Given the description of an element on the screen output the (x, y) to click on. 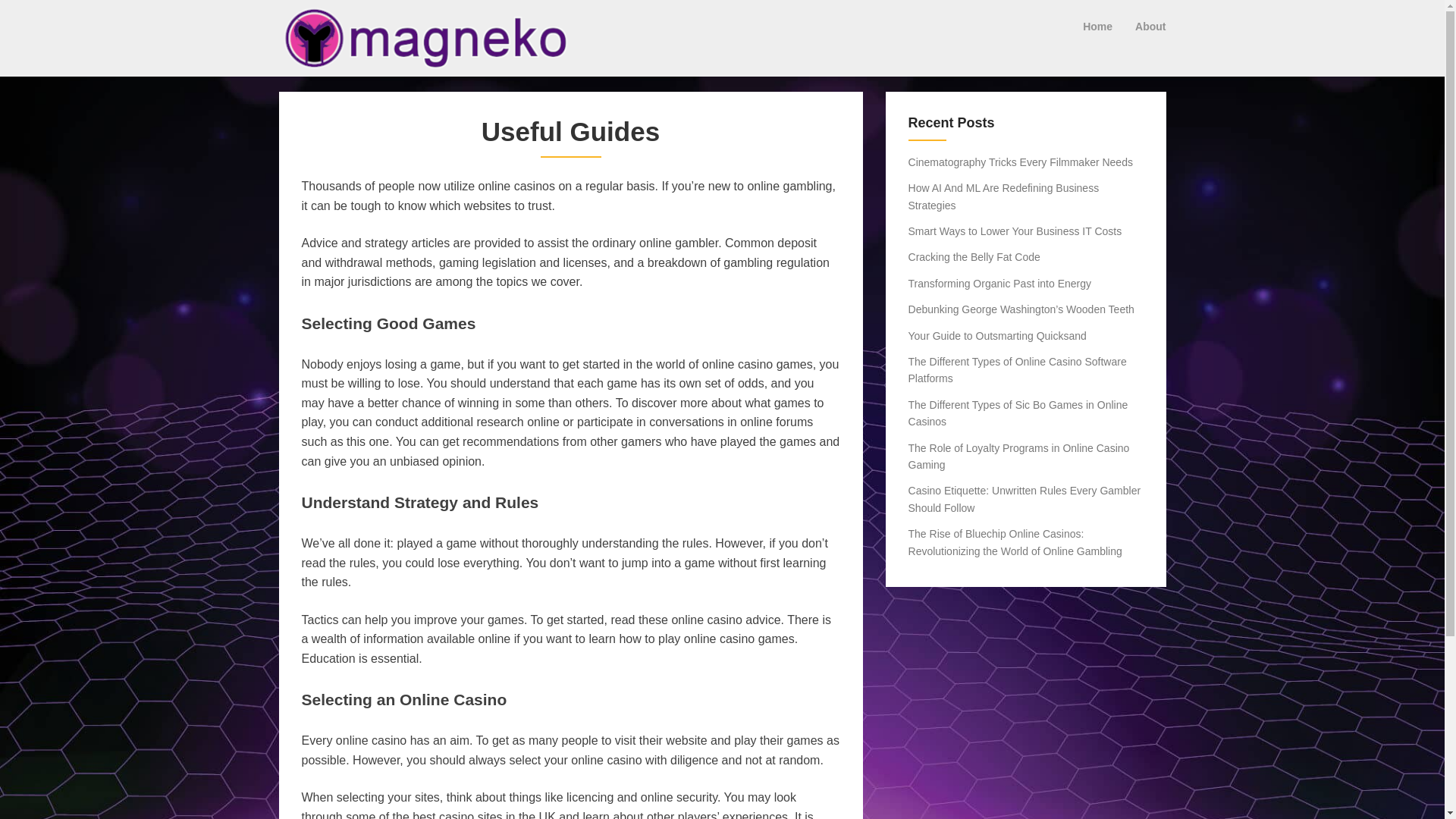
Transforming Organic Past into Energy (999, 283)
The Role of Loyalty Programs in Online Casino Gaming (1018, 456)
Cracking the Belly Fat Code (974, 256)
The Different Types of Sic Bo Games in Online Casinos (1018, 412)
Home (1097, 26)
Cinematography Tricks Every Filmmaker Needs (1020, 162)
Smart Ways to Lower Your Business IT Costs (1015, 231)
Your Guide to Outsmarting Quicksand (997, 336)
The Different Types of Online Casino Software Platforms (1017, 369)
About (1150, 26)
How AI And ML Are Redefining Business Strategies (1003, 195)
